Given the description of an element on the screen output the (x, y) to click on. 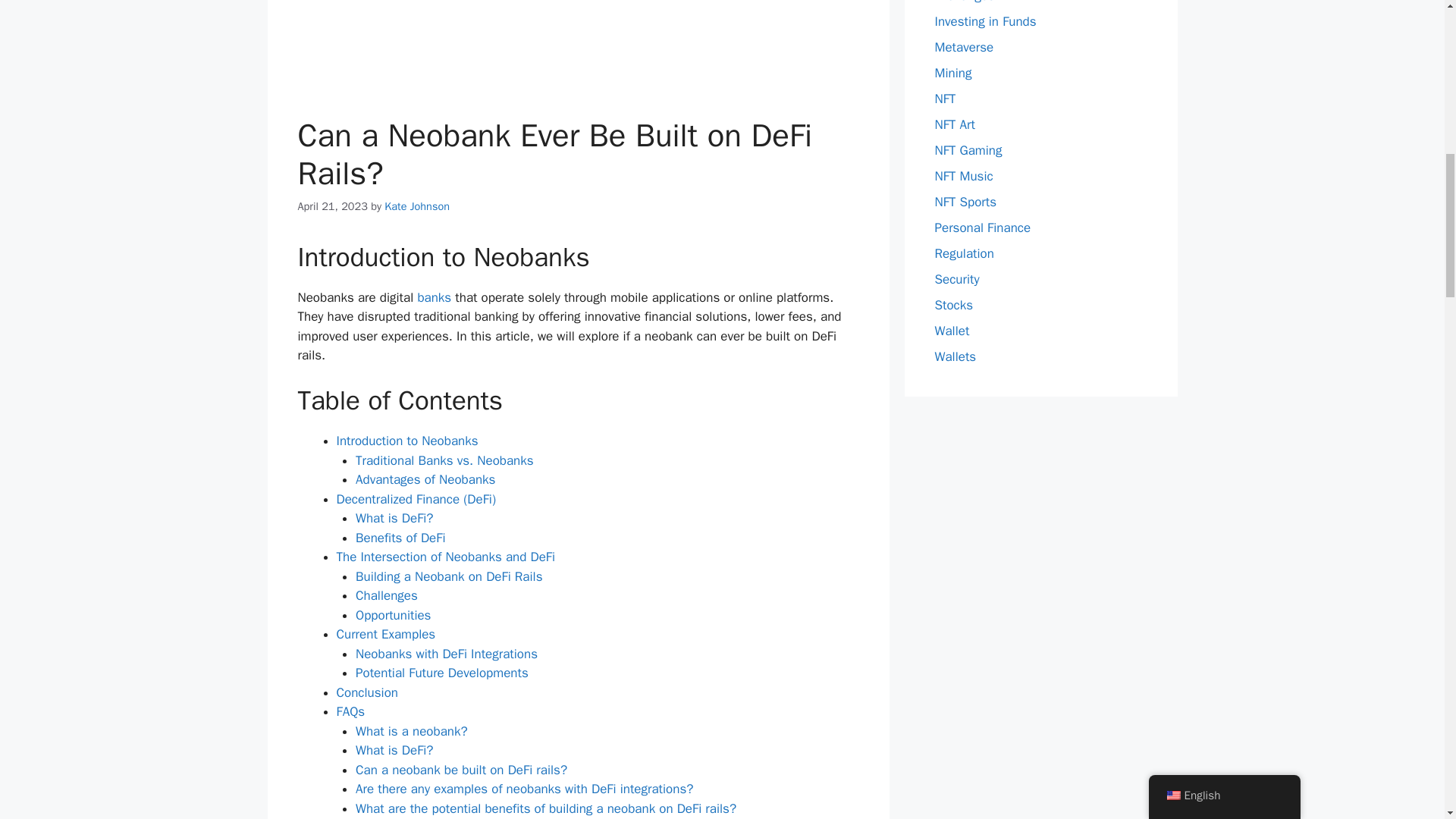
Opportunities (392, 615)
Are there any examples of neobanks with DeFi integrations? (524, 788)
Current Examples (385, 634)
Building a Neobank on DeFi Rails (448, 576)
Potential Future Developments (441, 672)
Advantages of Neobanks (425, 479)
FAQs (350, 711)
The Intersection of Neobanks and DeFi (446, 556)
Can a neobank be built on DeFi rails? (461, 770)
Challenges (386, 595)
Neobanks with DeFi Integrations (446, 653)
Traditional Banks vs. Neobanks (444, 460)
banks (433, 297)
Kate Johnson (416, 205)
